Given the description of an element on the screen output the (x, y) to click on. 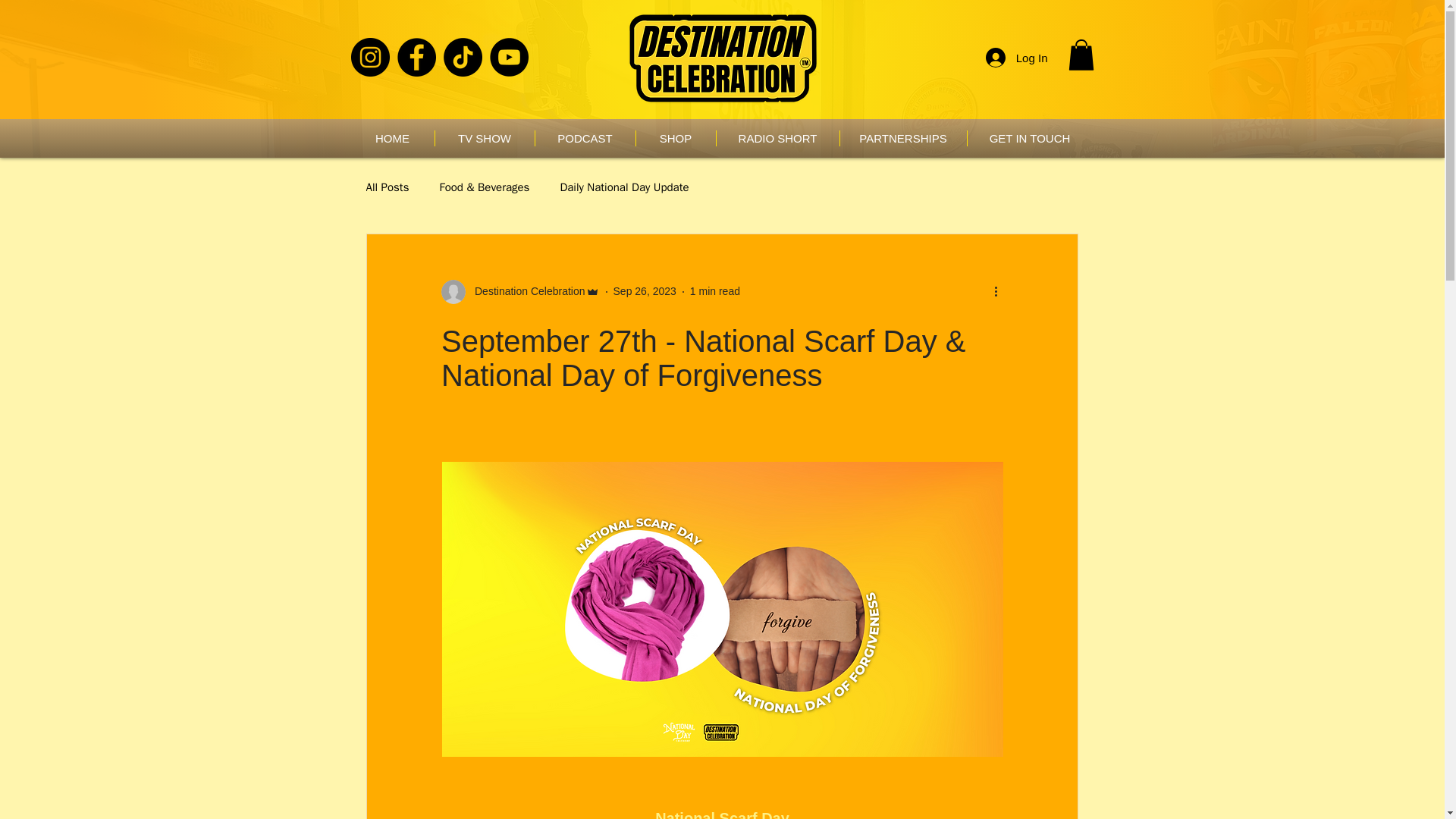
SHOP (674, 138)
Log In (1016, 57)
TV SHOW (484, 138)
PARTNERSHIPS (903, 138)
Daily National Day Update (623, 187)
All Posts (387, 187)
GET IN TOUCH (1030, 138)
HOME (391, 138)
RADIO SHORT (777, 138)
Destination Celebration (525, 291)
PODCAST (584, 138)
1 min read (714, 291)
Destination Celebration Show Logo (721, 58)
National Scarf Day (722, 814)
Destination Celebration (520, 291)
